Given the description of an element on the screen output the (x, y) to click on. 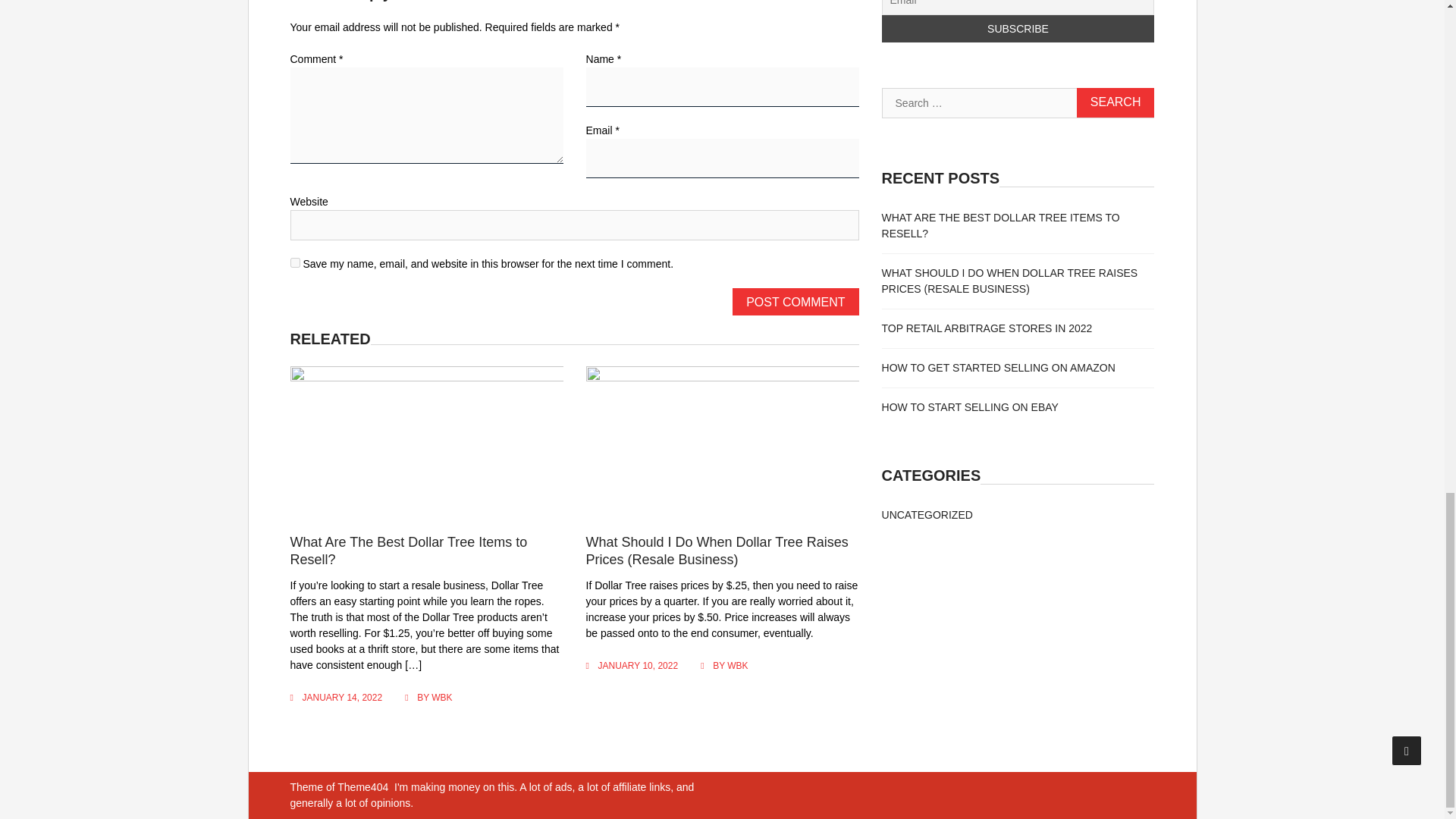
Subscribe (1018, 28)
Search (1115, 102)
WBK (440, 697)
JANUARY 10, 2022 (638, 665)
What Are The Best Dollar Tree Items to Resell? (408, 550)
yes (294, 262)
TOP RETAIL ARBITRAGE STORES IN 2022 (987, 328)
WHAT ARE THE BEST DOLLAR TREE ITEMS TO RESELL? (1000, 225)
Search (1115, 102)
Search (1115, 102)
Subscribe (1018, 28)
Post Comment (795, 301)
Post Comment (795, 301)
WBK (737, 665)
JANUARY 14, 2022 (341, 697)
